Given the description of an element on the screen output the (x, y) to click on. 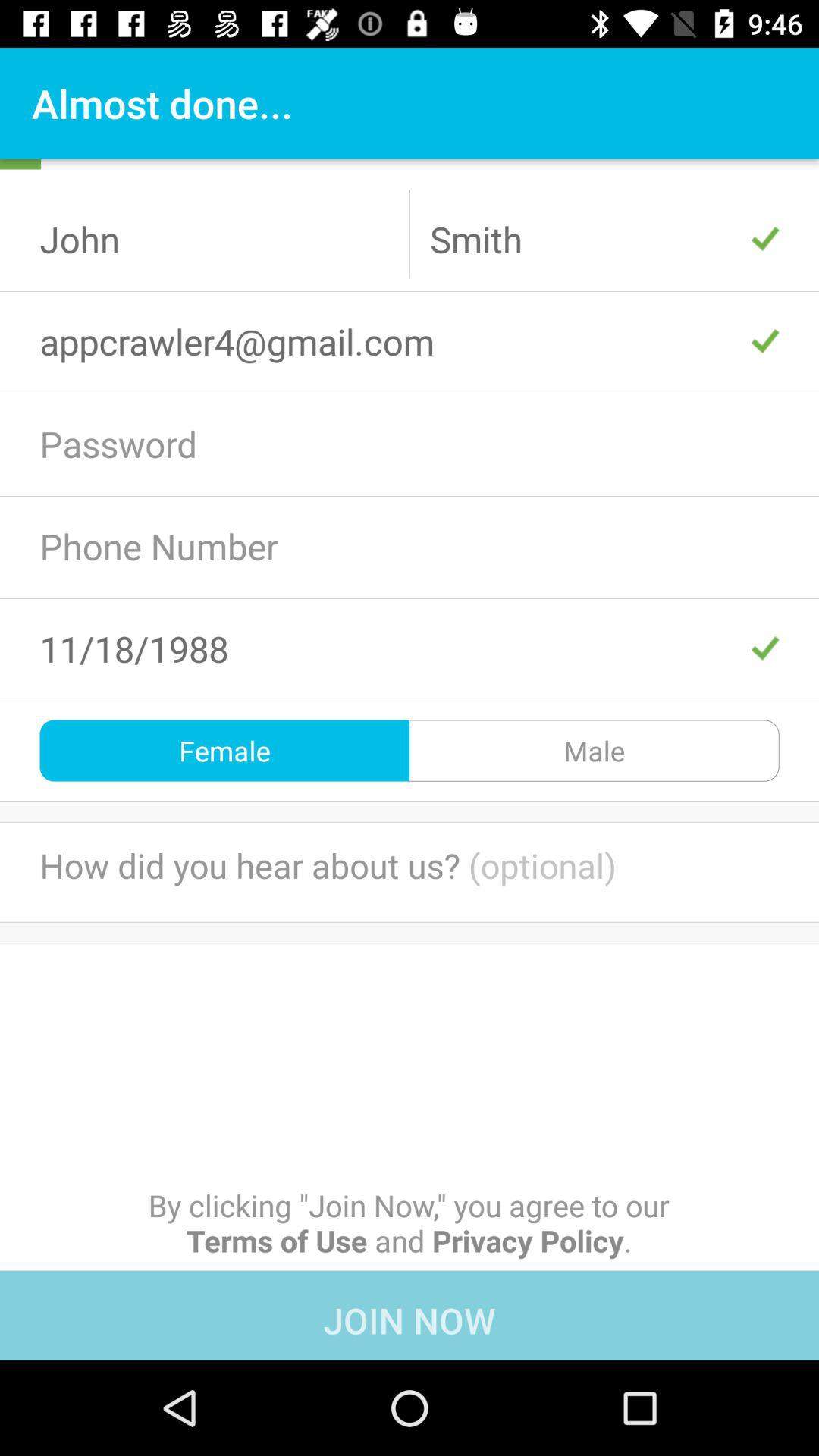
flip until john item (214, 239)
